Given the description of an element on the screen output the (x, y) to click on. 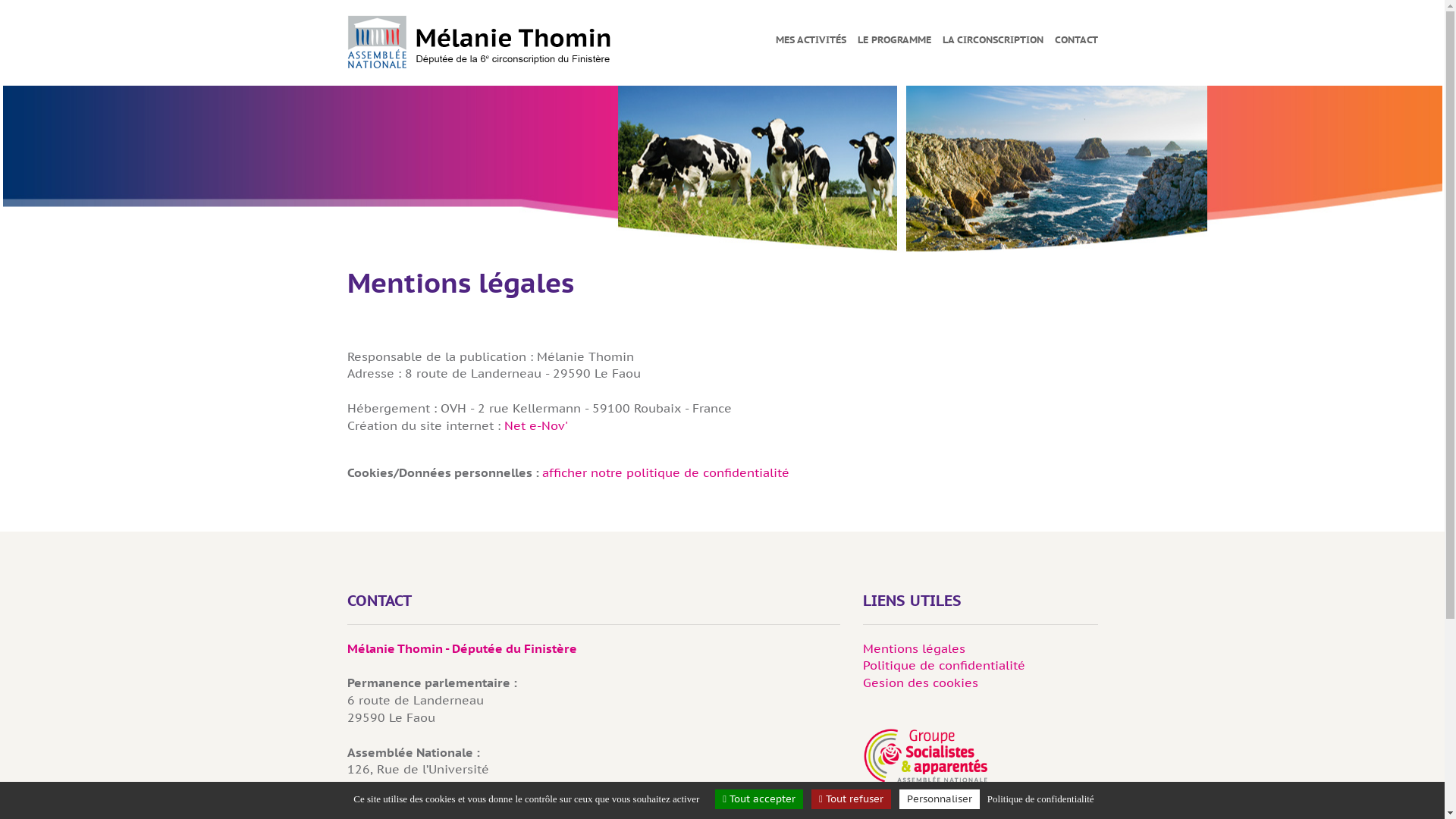
LA CIRCONSCRIPTION Element type: text (991, 39)
Net e-Nov' Element type: text (535, 425)
Gesion des cookies Element type: text (920, 682)
Tout refuser Element type: text (851, 799)
Personnaliser Element type: text (939, 799)
Tout accepter Element type: text (759, 799)
CONTACT Element type: text (1075, 39)
LE PROGRAMME Element type: text (893, 39)
